Given the description of an element on the screen output the (x, y) to click on. 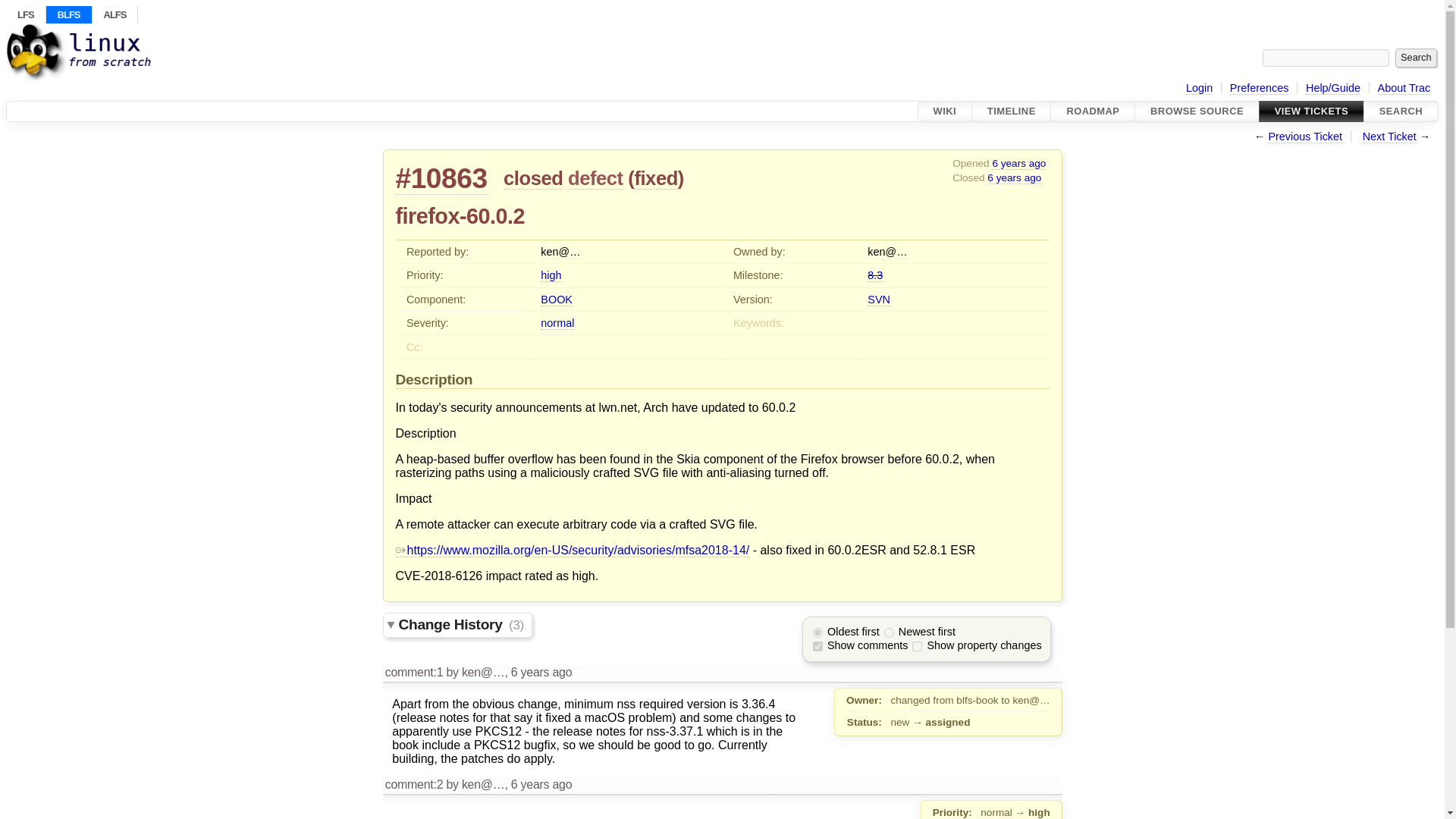
VIEW TICKETS (1310, 111)
BROWSE SOURCE (1197, 111)
8.3 (874, 275)
6 years ago (541, 671)
defect (595, 178)
6 years ago (541, 784)
normal (556, 323)
comment:2 (414, 784)
6 years ago (1014, 177)
oldest (817, 633)
on (817, 646)
high (550, 275)
6 years ago (1018, 163)
on (916, 646)
SVN (878, 299)
